Given the description of an element on the screen output the (x, y) to click on. 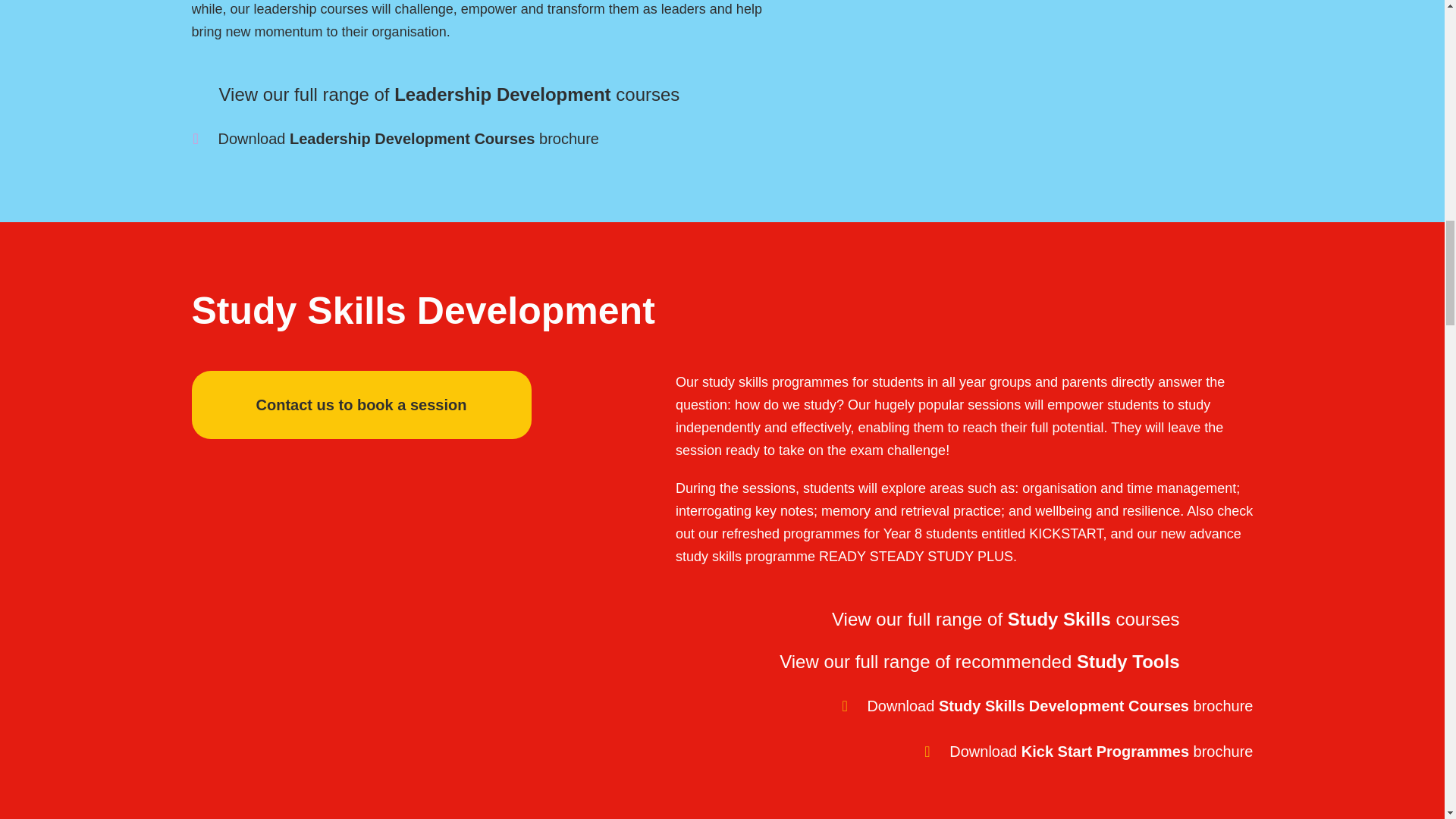
Book now (360, 404)
